Given the description of an element on the screen output the (x, y) to click on. 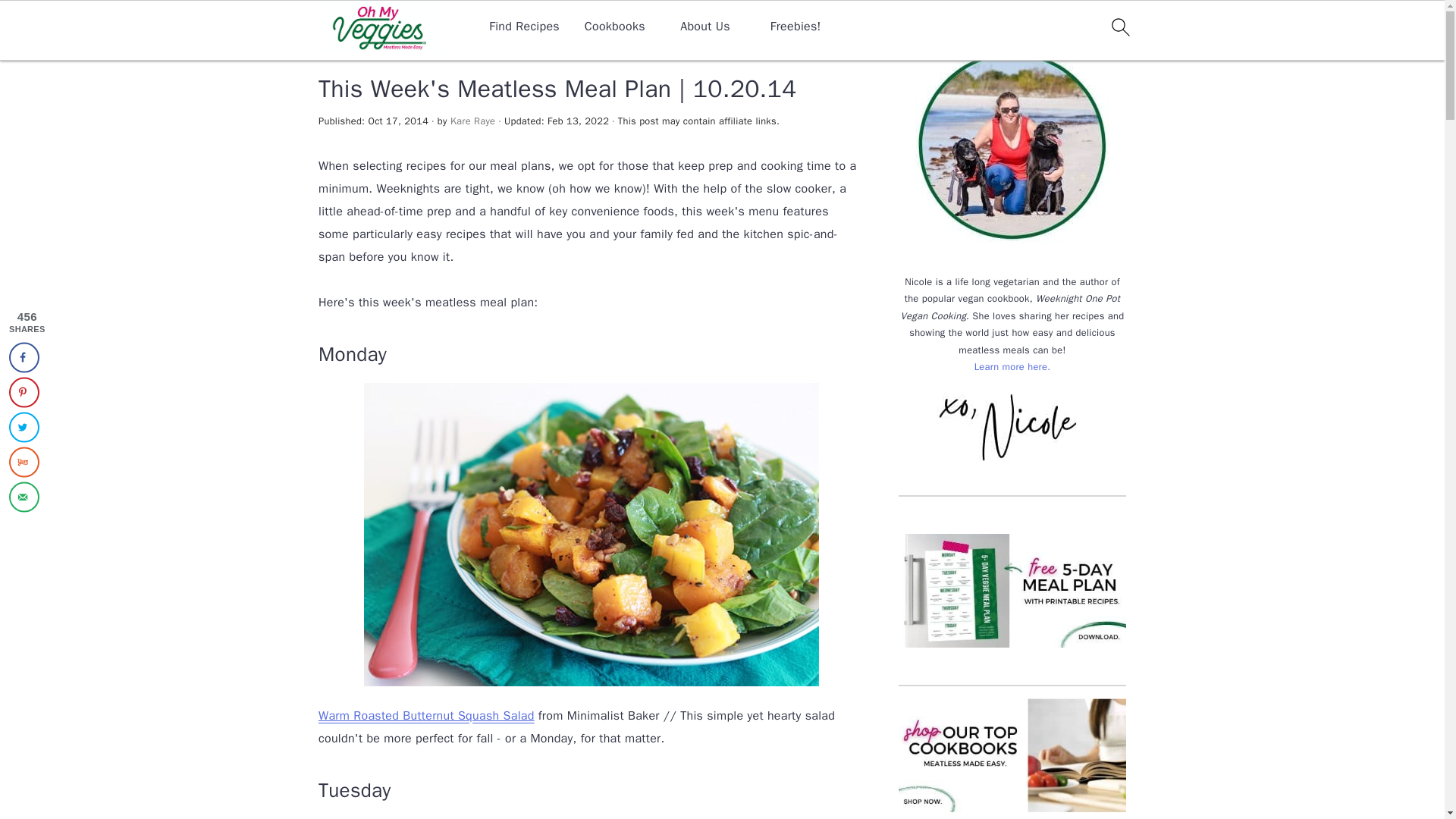
Cookbooks (615, 26)
search icon (1119, 26)
Share on Yummly (23, 461)
About Us (704, 26)
Save to Pinterest (23, 391)
Freebies! (795, 26)
Send over email (23, 496)
Find Recipes (524, 26)
Share on Facebook (23, 357)
